Given the description of an element on the screen output the (x, y) to click on. 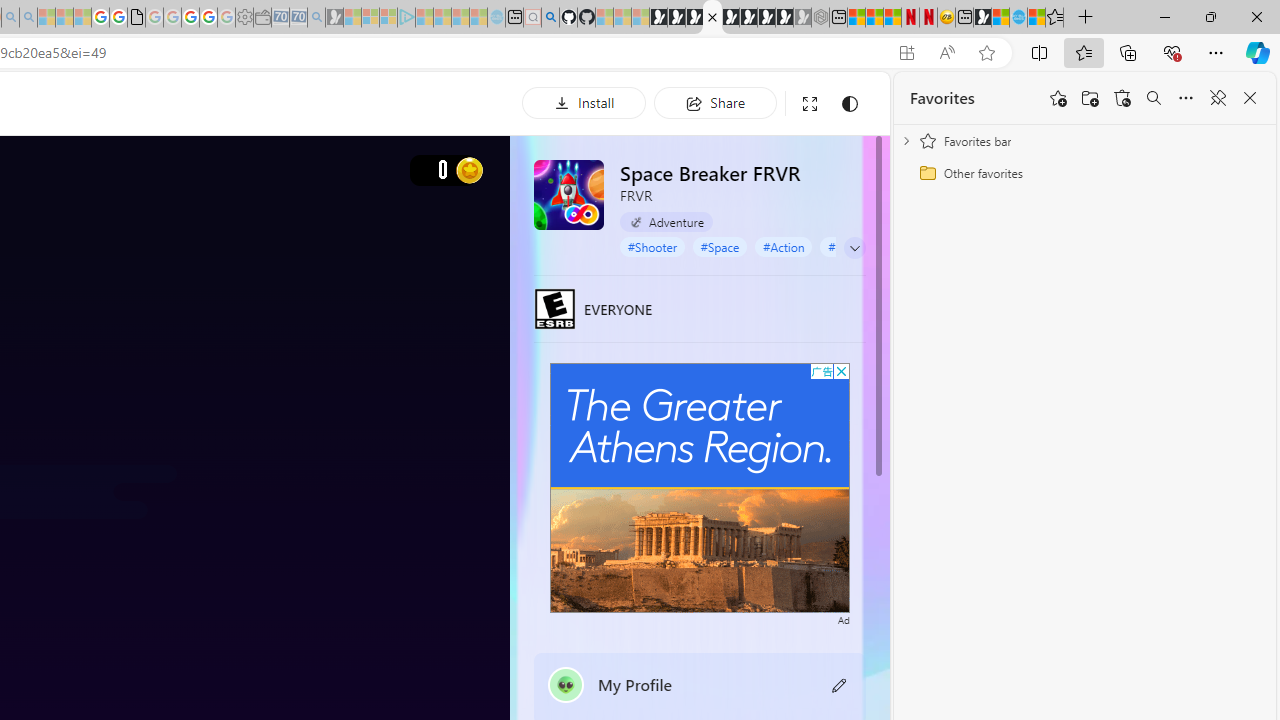
#Action (783, 246)
Add folder (1089, 98)
Close favorites (1250, 98)
#Sci Fi (845, 246)
